Given the description of an element on the screen output the (x, y) to click on. 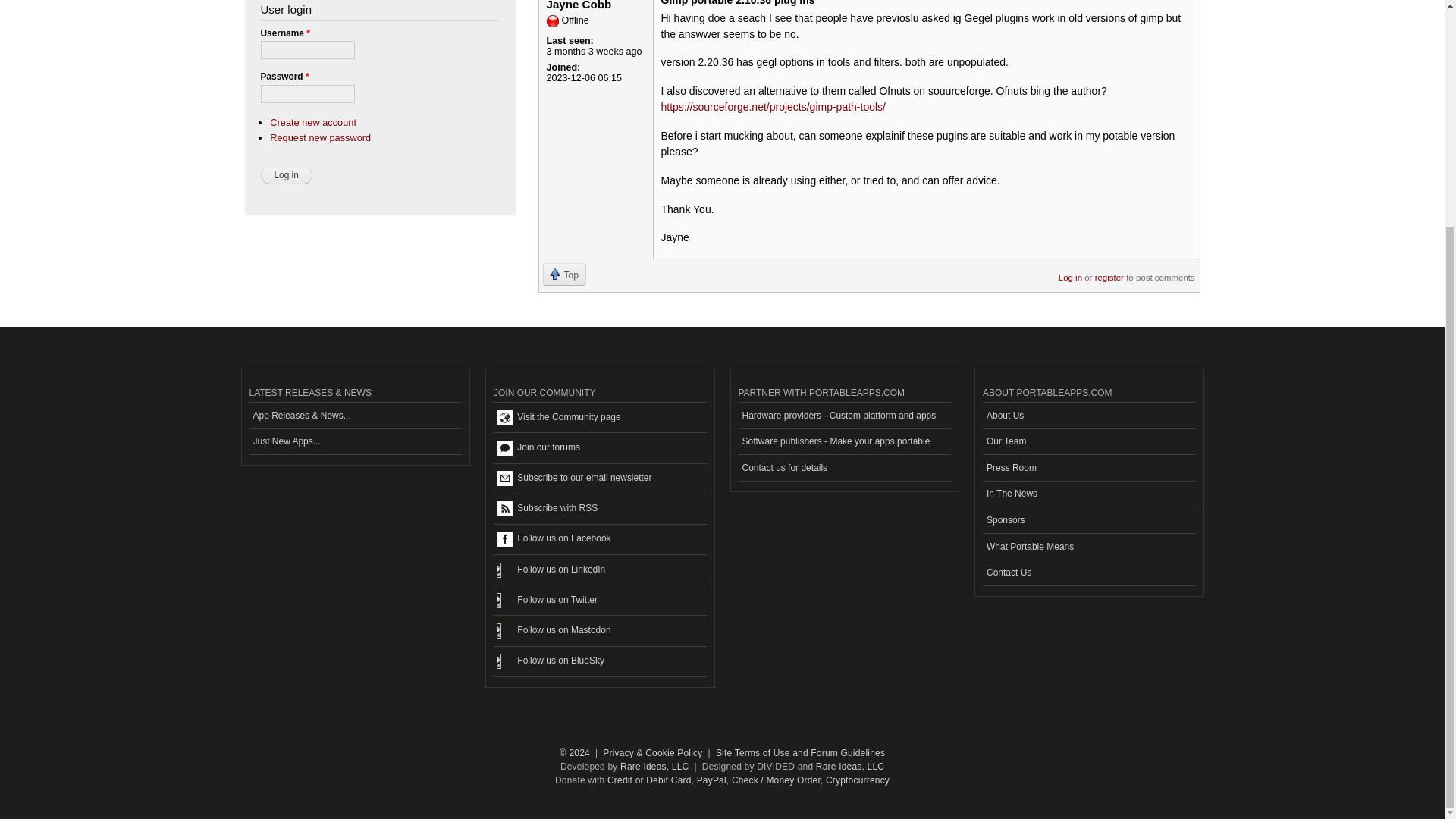
Subscribe to our email newsletter (599, 479)
Log in (286, 175)
register (1109, 272)
Jump to top of page (564, 273)
Visit the Community page (599, 417)
Create a new user account. (312, 122)
Top (564, 273)
Like us on Facebook (599, 539)
Just New Apps... (354, 442)
Join our forums (599, 448)
Request new password via e-mail. (320, 137)
Create new account (312, 122)
RSS Feed (599, 509)
Follow us on LinkedIn (599, 570)
Log in (286, 175)
